Given the description of an element on the screen output the (x, y) to click on. 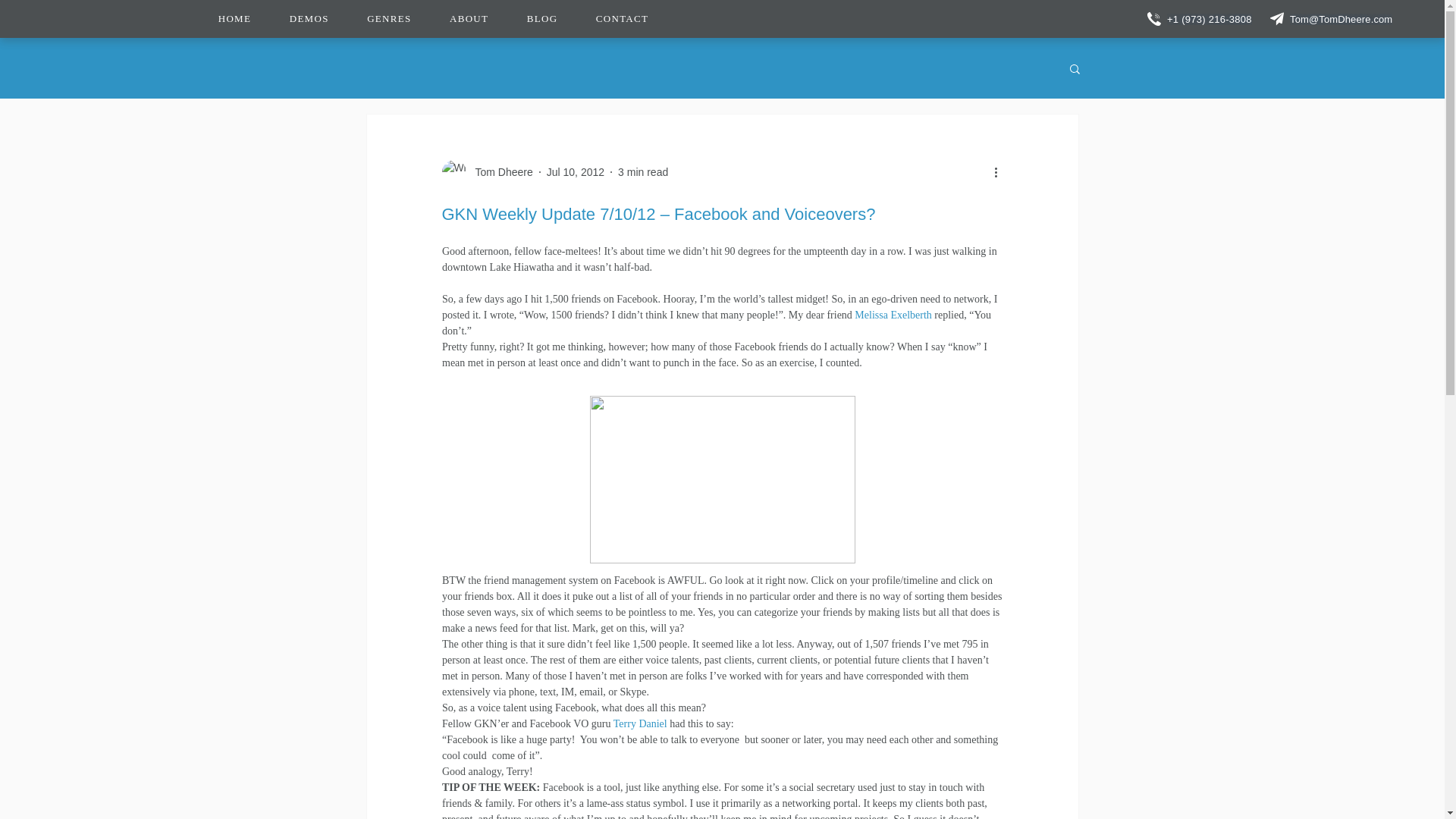
ABOUT (469, 18)
3 min read (642, 171)
Jul 10, 2012 (433, 18)
Melissa Exelberth (575, 171)
Tom Dheere (892, 315)
CONTACT (498, 171)
HOME (622, 18)
BLOG (235, 18)
DEMOS (542, 18)
